Given the description of an element on the screen output the (x, y) to click on. 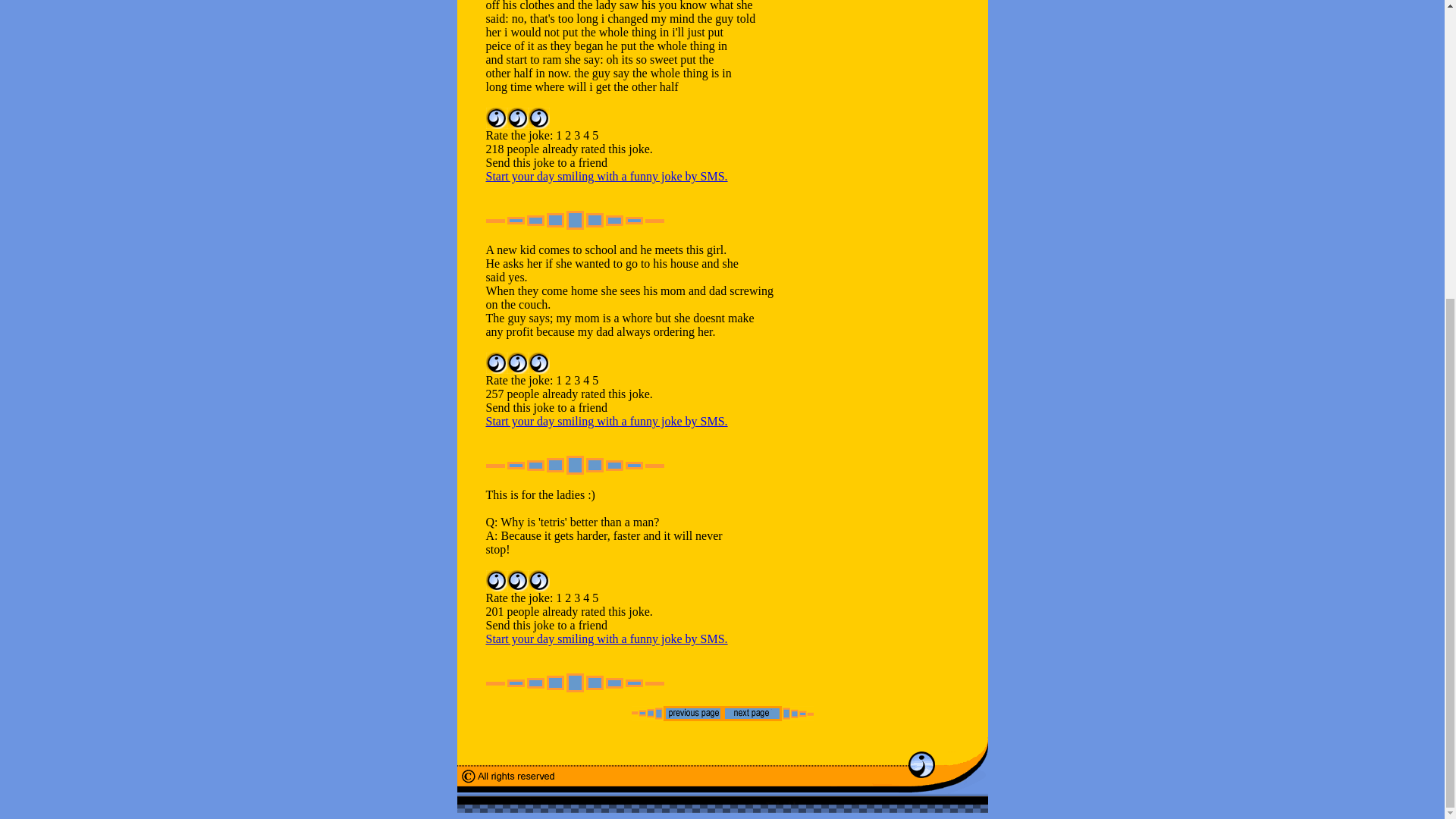
Start your day smiling with a funny joke by SMS. (605, 175)
Send this joke to a friend (545, 162)
Send this joke to a friend (545, 625)
Start your day smiling with a funny joke by SMS. (605, 420)
Send this joke to a friend (545, 407)
Start your day smiling with a funny joke by SMS. (605, 638)
